Given the description of an element on the screen output the (x, y) to click on. 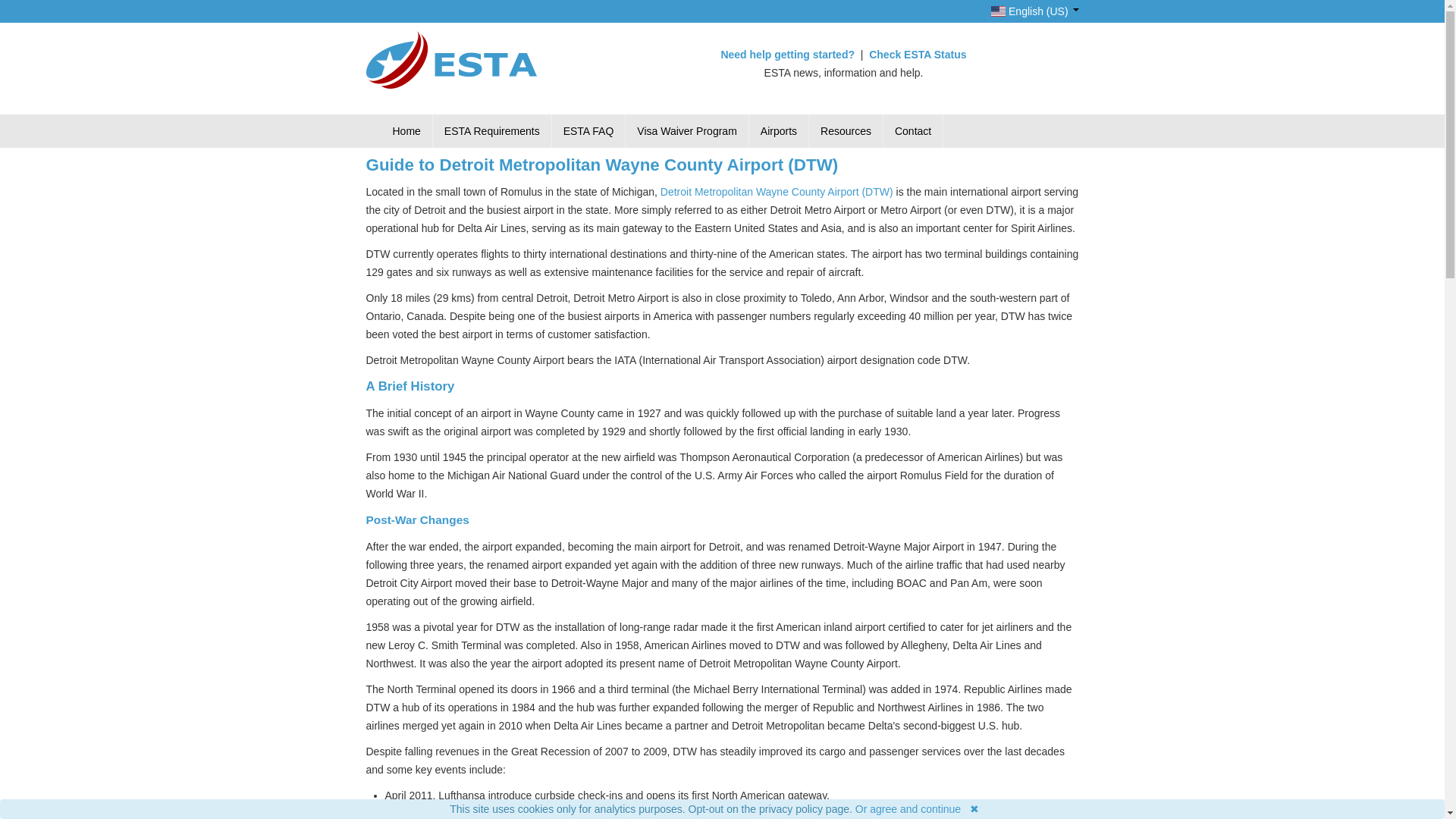
ESTA Requirements (491, 131)
Airports (779, 131)
ESTA Resources (846, 131)
ESTA Visa Waiver FAQs (588, 131)
Visa Waiver Program (687, 131)
Need help getting started? (788, 54)
Visa Waiver Program (687, 131)
Resources (846, 131)
International Arrivals and Departures (779, 131)
Contact (913, 131)
